Given the description of an element on the screen output the (x, y) to click on. 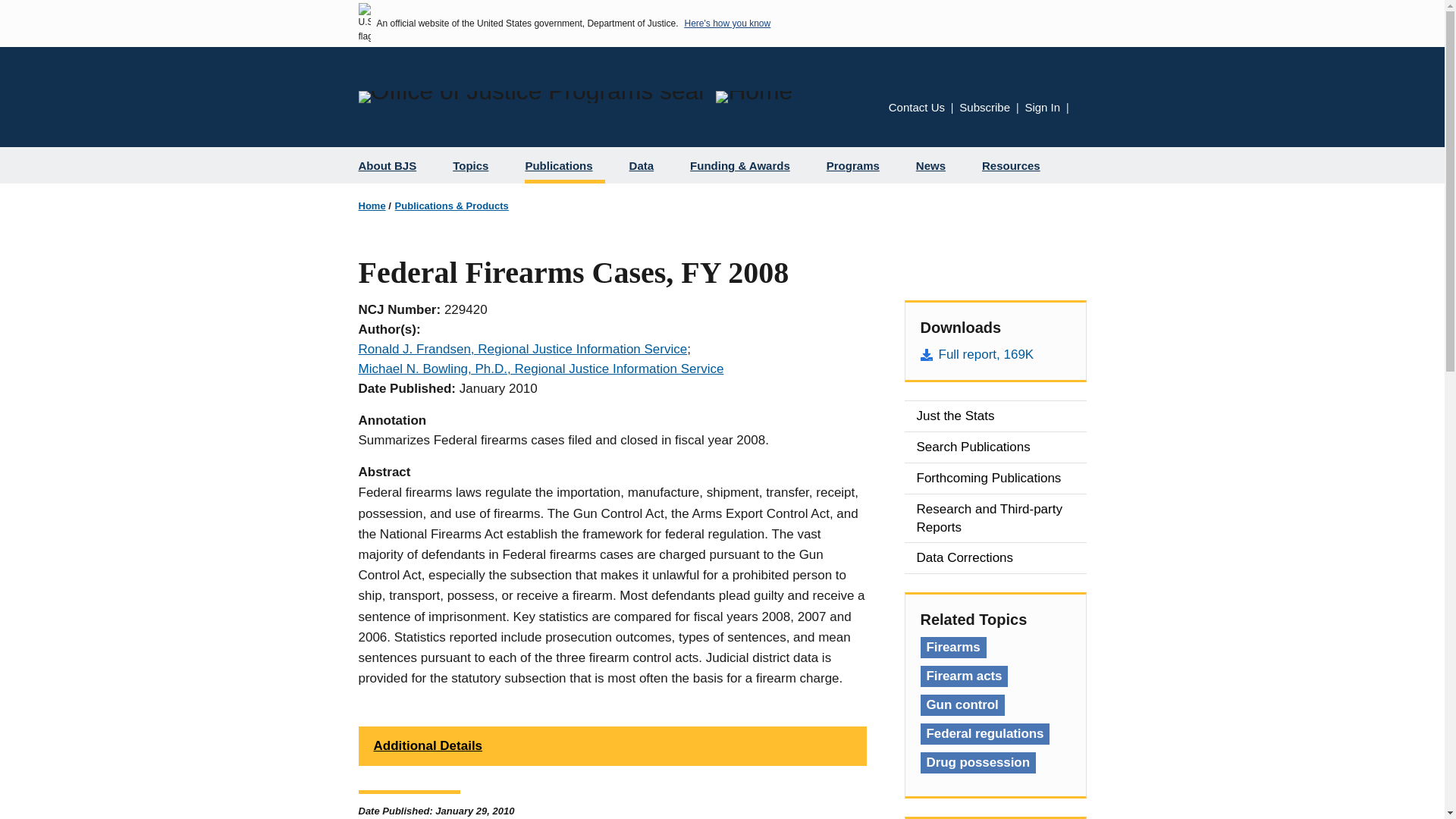
Contact Us (916, 107)
Office of Justice Programs (530, 96)
Home (754, 96)
Full report, 169K (995, 354)
Firearms (953, 647)
Programs (858, 165)
Forthcoming Publications (995, 478)
Additional Details (612, 745)
Share (1080, 108)
